Given the description of an element on the screen output the (x, y) to click on. 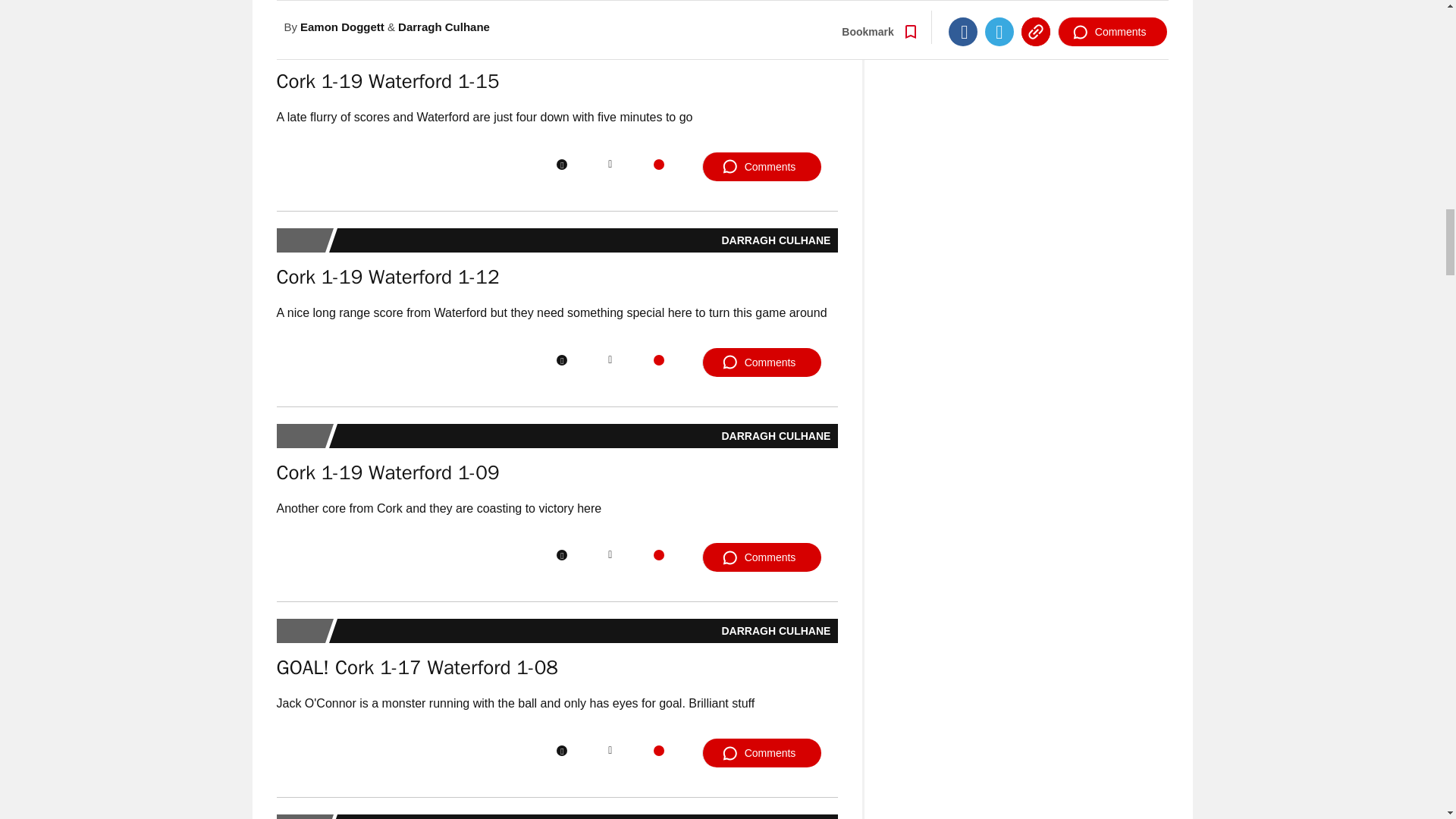
Facebook (561, 163)
Twitter (610, 163)
Comments (761, 166)
